Given the description of an element on the screen output the (x, y) to click on. 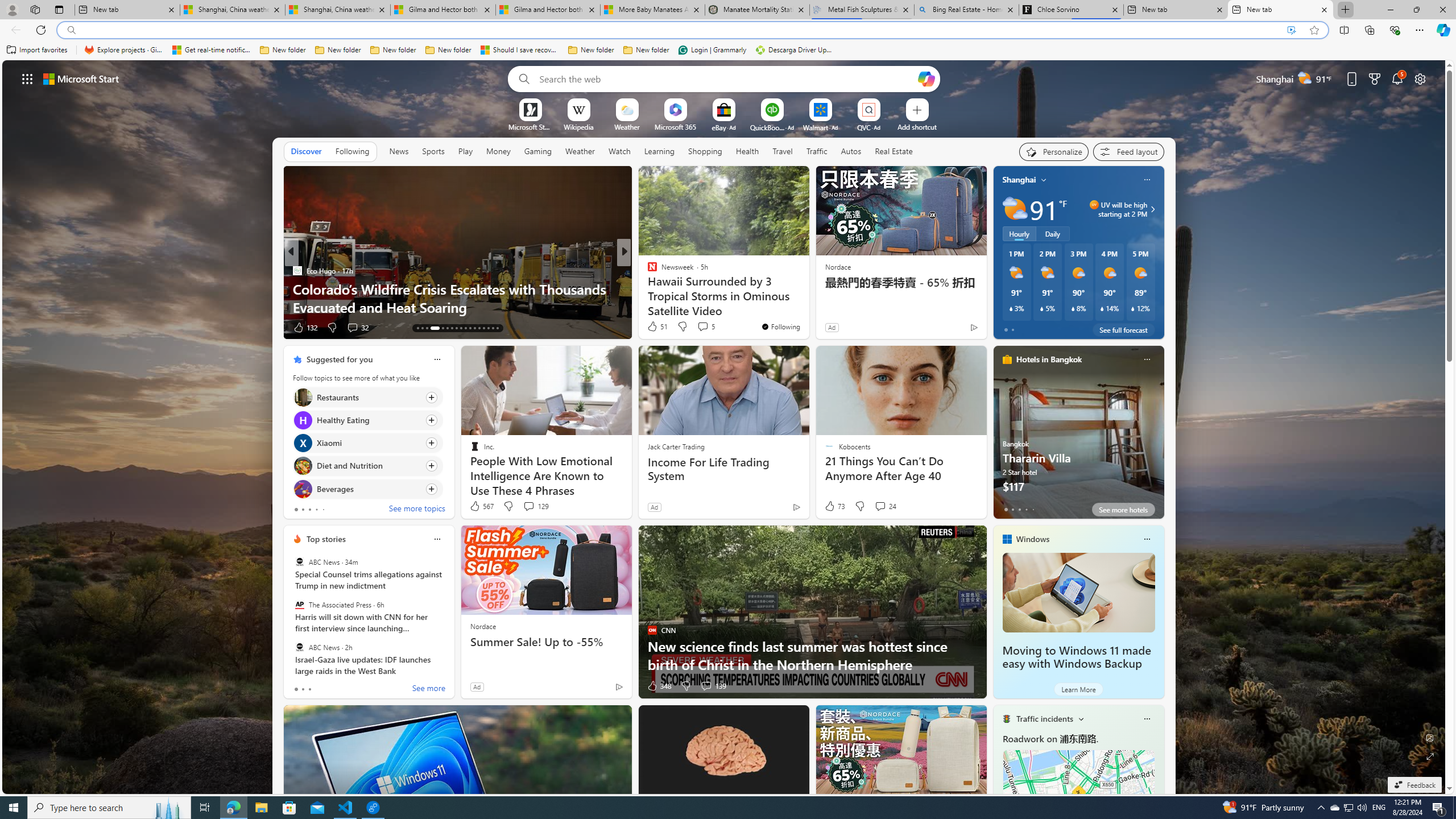
Tampa Free Press (647, 270)
My location (1043, 179)
See full forecast (1123, 329)
Play (465, 151)
Chloe Sorvino (1070, 9)
Fox Weather (647, 270)
Click to follow topic Diet and Nutrition (367, 465)
AutomationID: tab-20 (432, 328)
AutomationID: tab-23 (451, 328)
Shopping (705, 151)
AutomationID: tab-27 (470, 328)
